Given the description of an element on the screen output the (x, y) to click on. 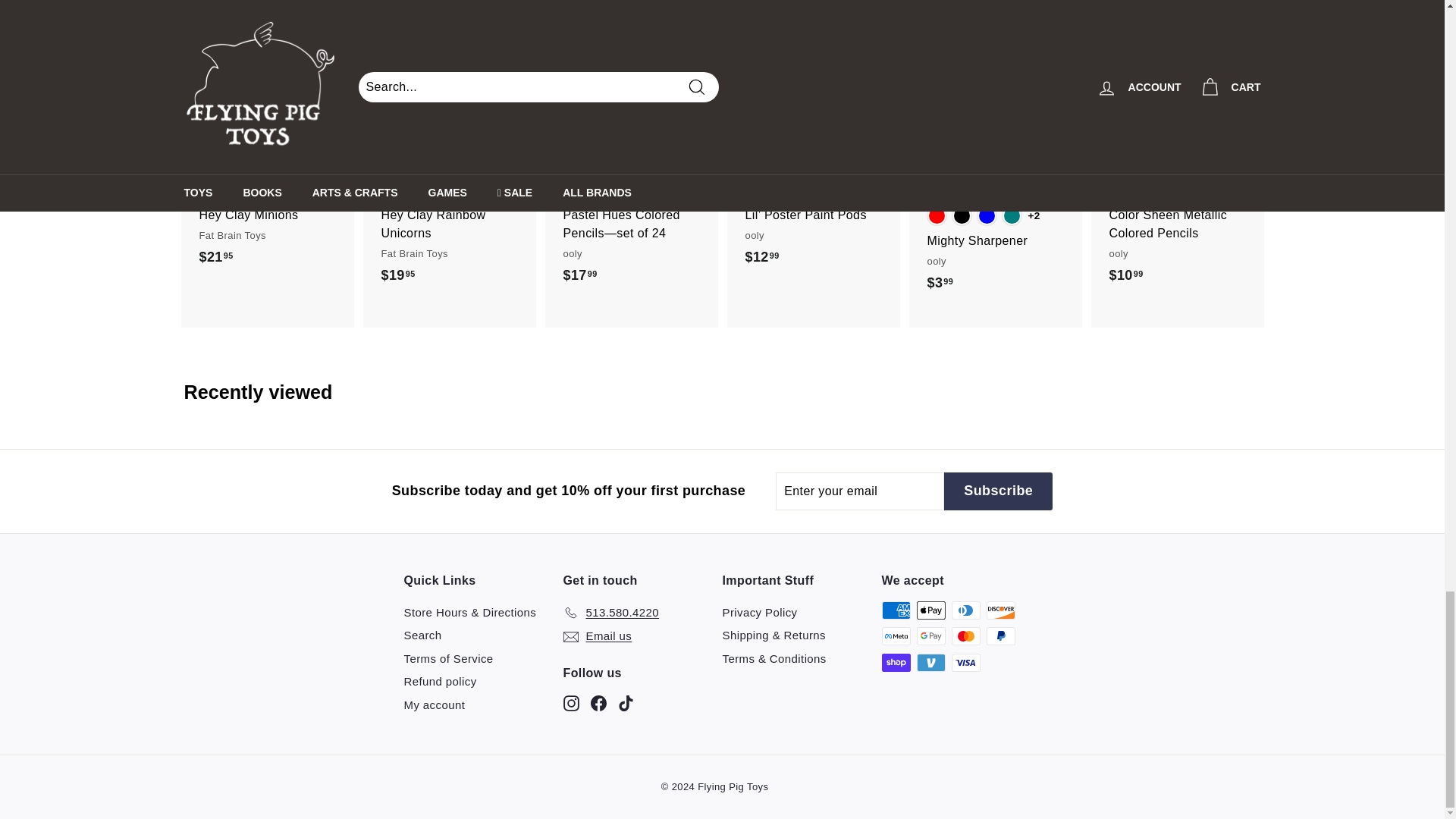
Google Pay (929, 636)
Discover (999, 610)
Apple Pay (929, 610)
Meta Pay (895, 636)
Diners Club (964, 610)
American Express (895, 610)
Mastercard (964, 636)
